Given the description of an element on the screen output the (x, y) to click on. 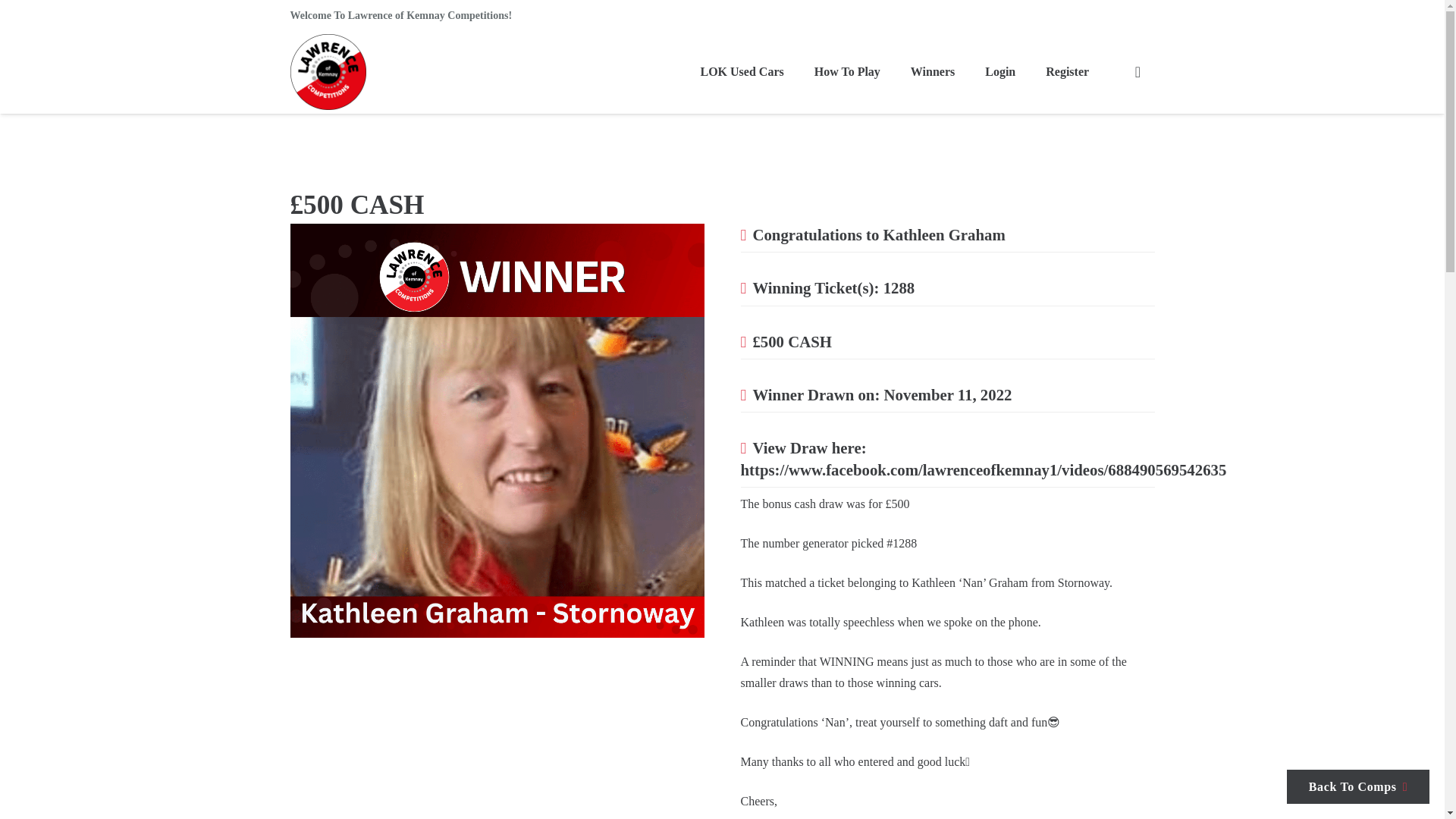
How To Play (847, 71)
Back To Comps (1358, 786)
LOK Used Cars (740, 71)
Winners (932, 71)
